Given the description of an element on the screen output the (x, y) to click on. 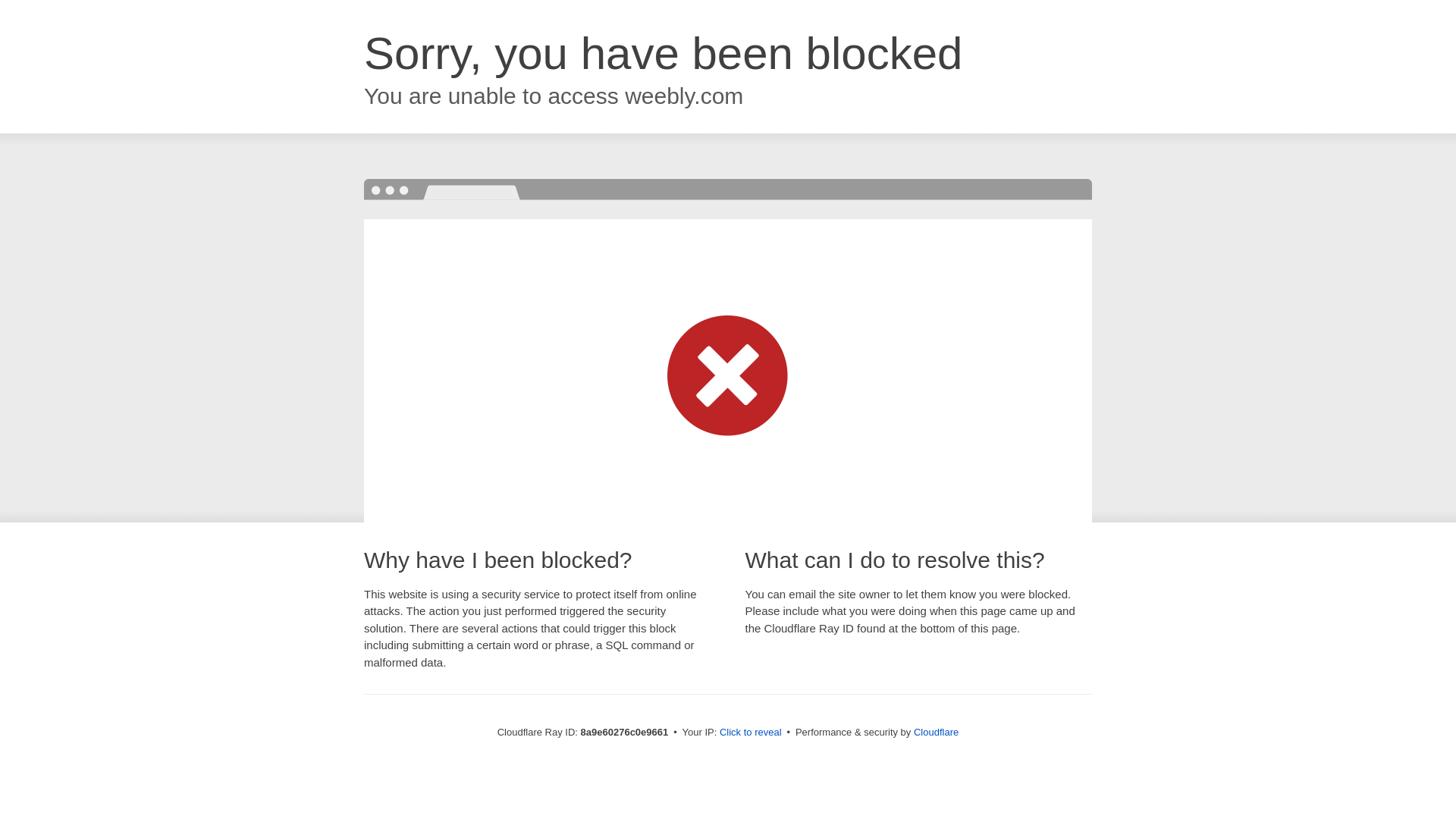
Cloudflare (936, 731)
Click to reveal (750, 732)
